Given the description of an element on the screen output the (x, y) to click on. 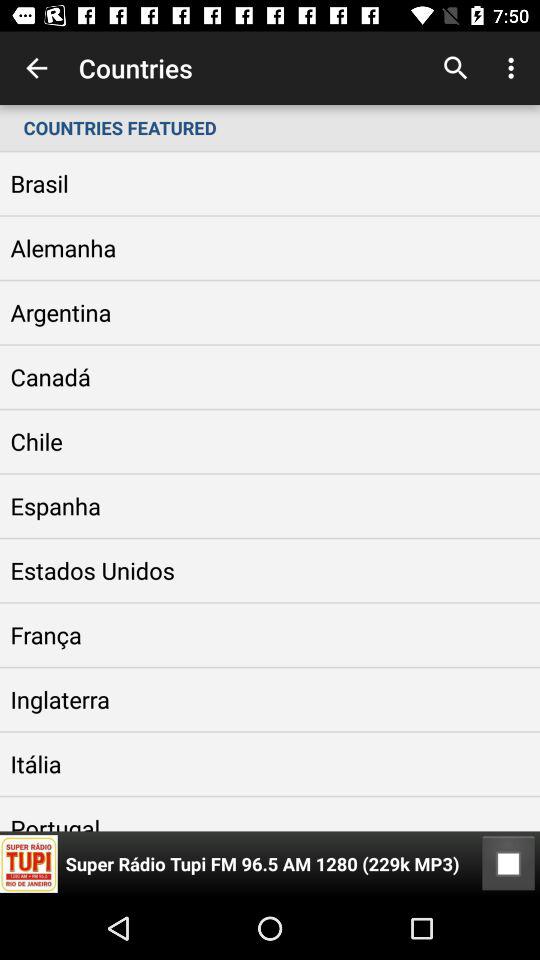
launch the app next to countries icon (36, 68)
